Given the description of an element on the screen output the (x, y) to click on. 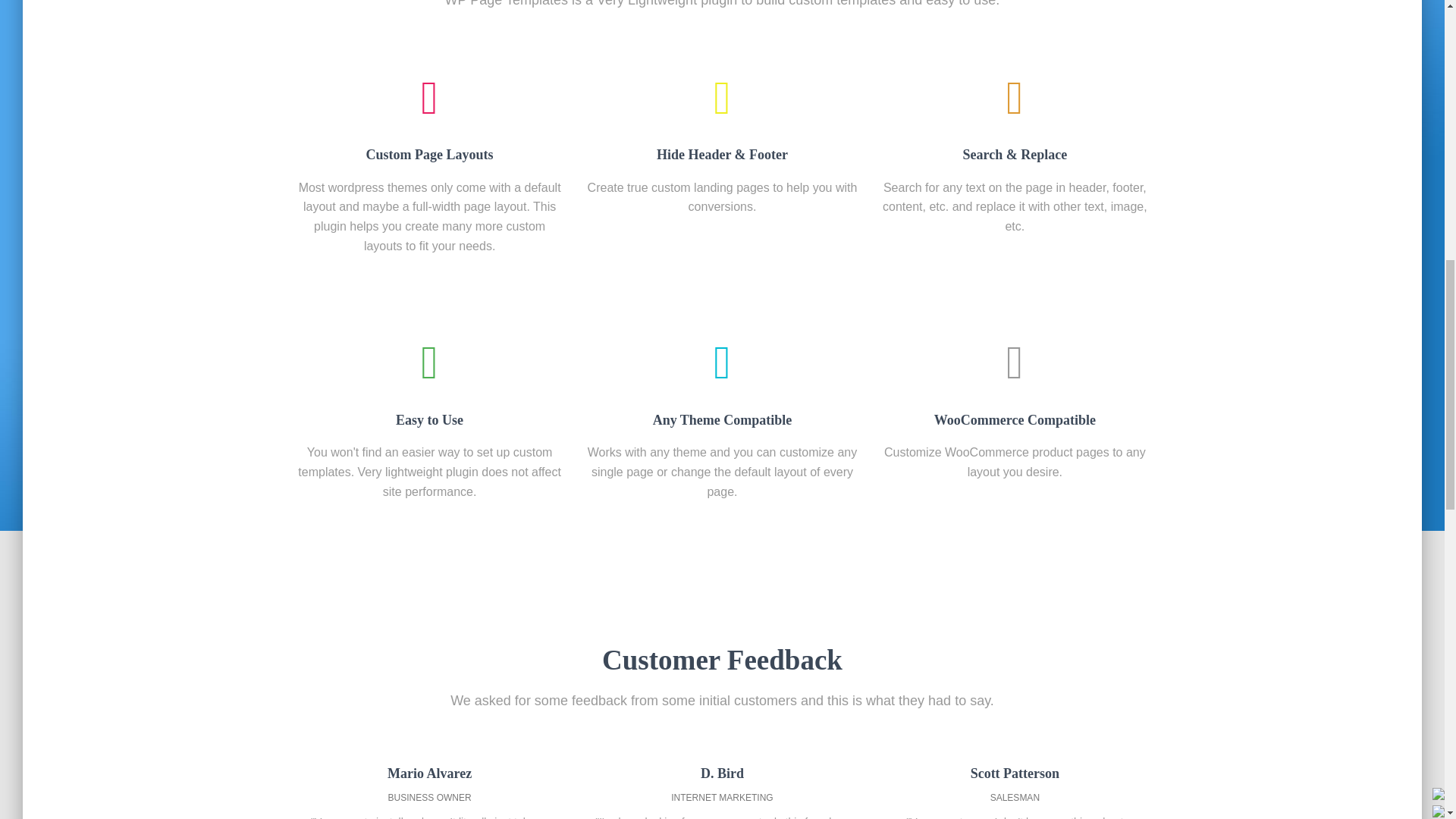
Any Theme Compatible (722, 385)
Custom Page Layouts (430, 121)
Easy to Use (430, 385)
